Given the description of an element on the screen output the (x, y) to click on. 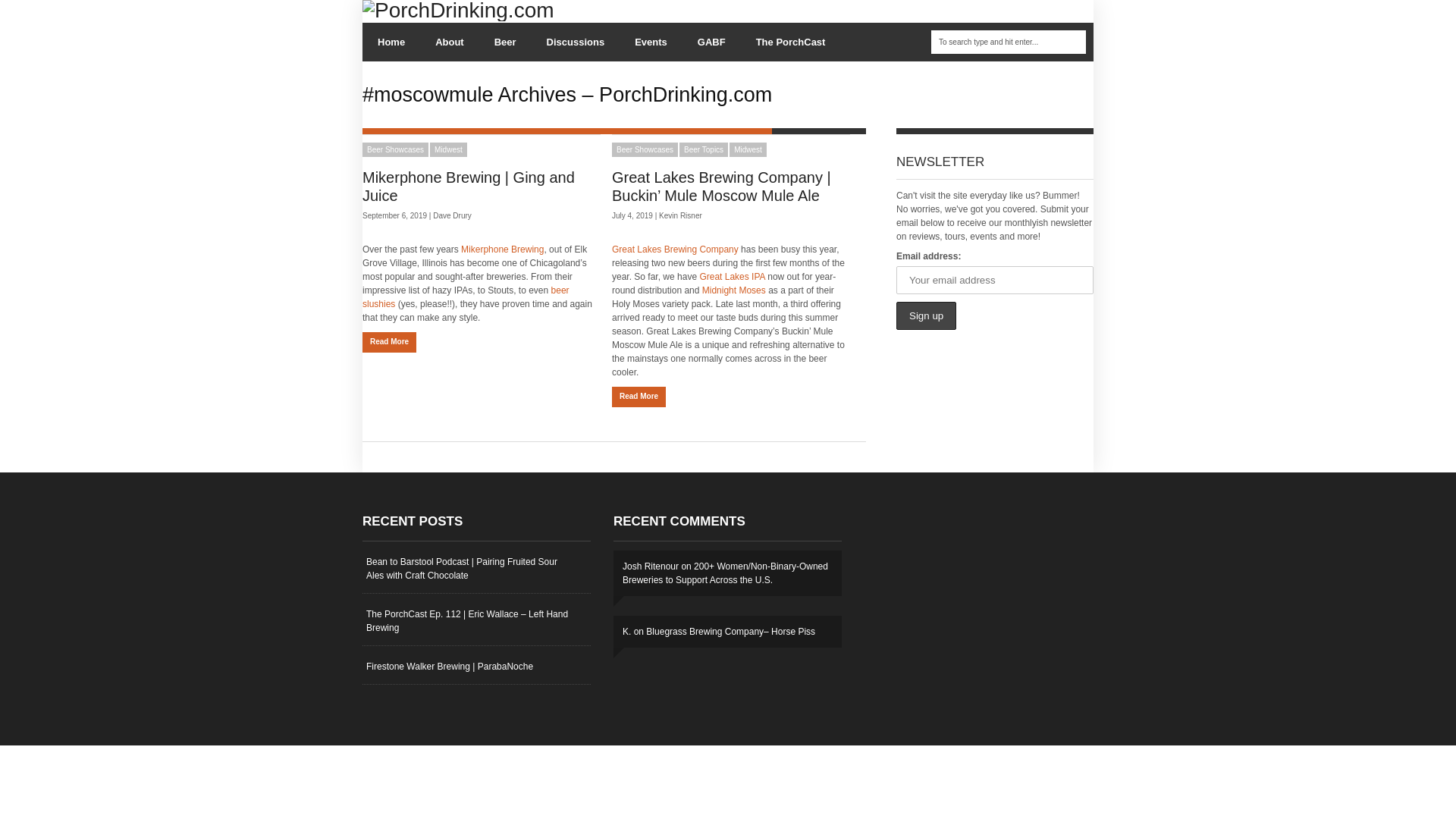
The PorchCast (791, 41)
Events (651, 41)
Posts by Kevin Risner (680, 215)
Posts by Dave Drury (451, 215)
Discussions (575, 41)
Beer (505, 41)
Sign up (926, 316)
Home (391, 41)
To search type and hit enter... (1008, 42)
About (449, 41)
